Given the description of an element on the screen output the (x, y) to click on. 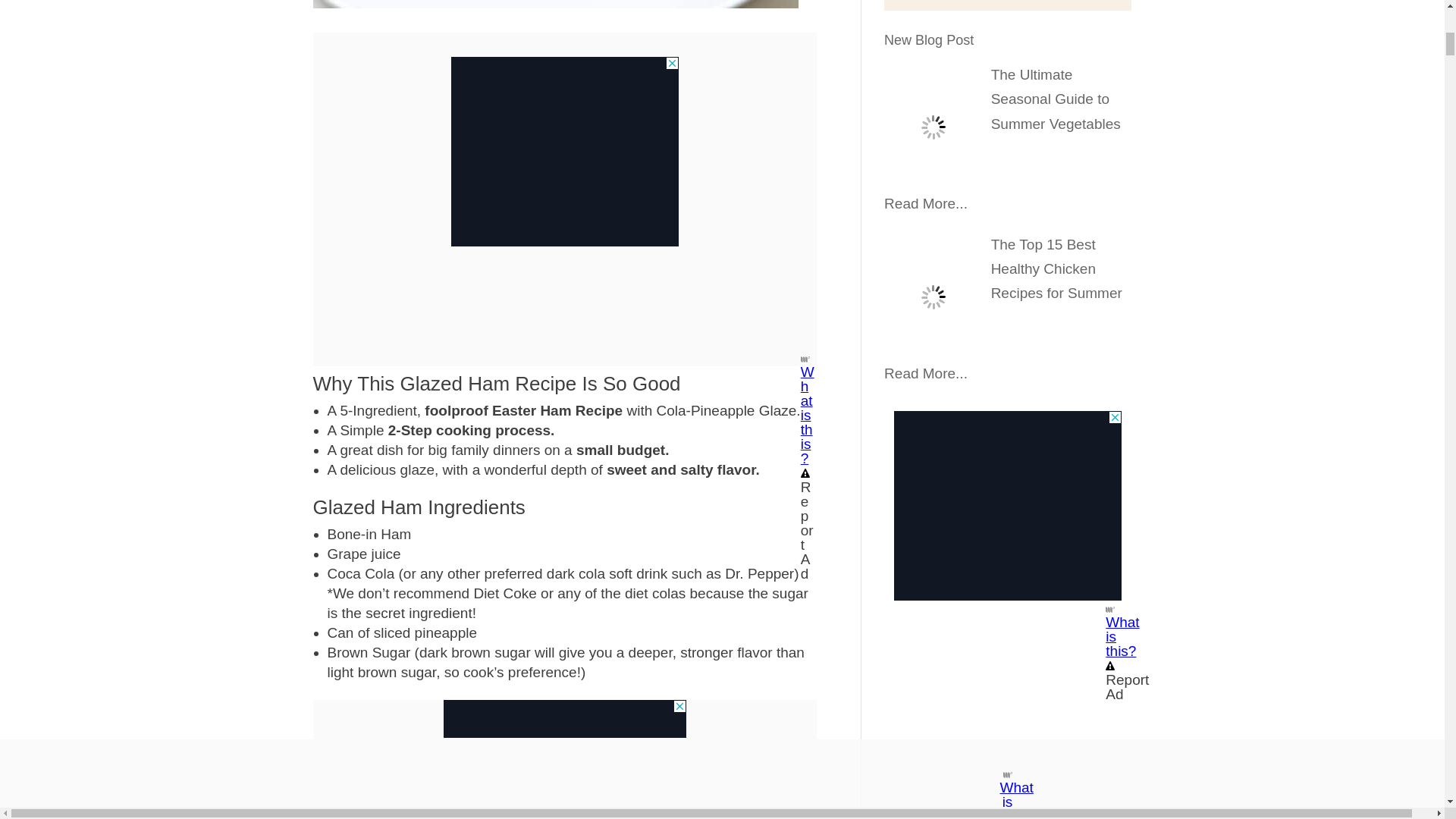
3rd party ad content (564, 718)
3rd party ad content (564, 126)
3rd party ad content (1007, 505)
easter-ham-cola-glazed-recipe-8371 (555, 4)
